Given the description of an element on the screen output the (x, y) to click on. 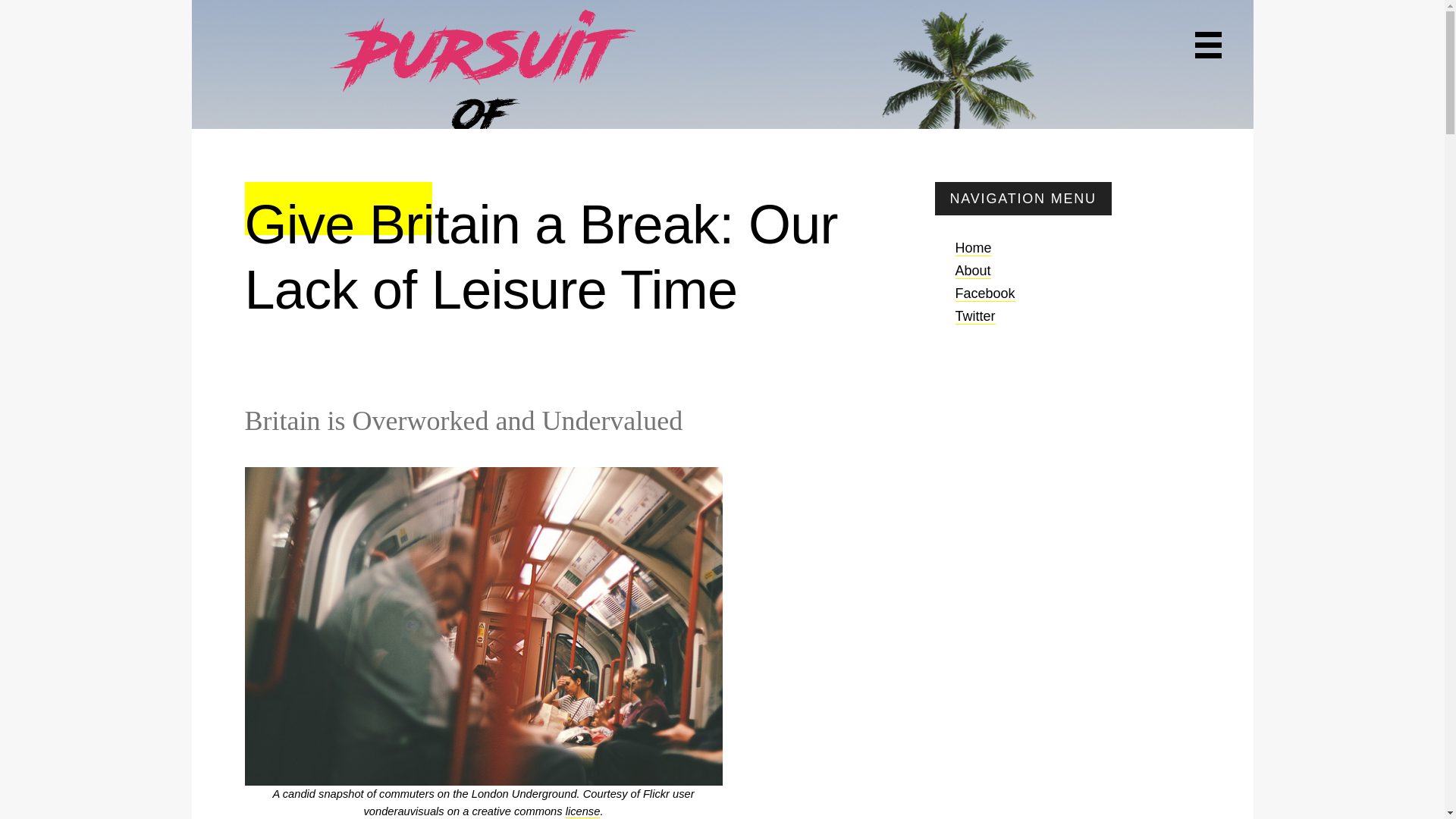
Home (973, 248)
license (582, 811)
Primary Navigation Menu (1208, 44)
